Given the description of an element on the screen output the (x, y) to click on. 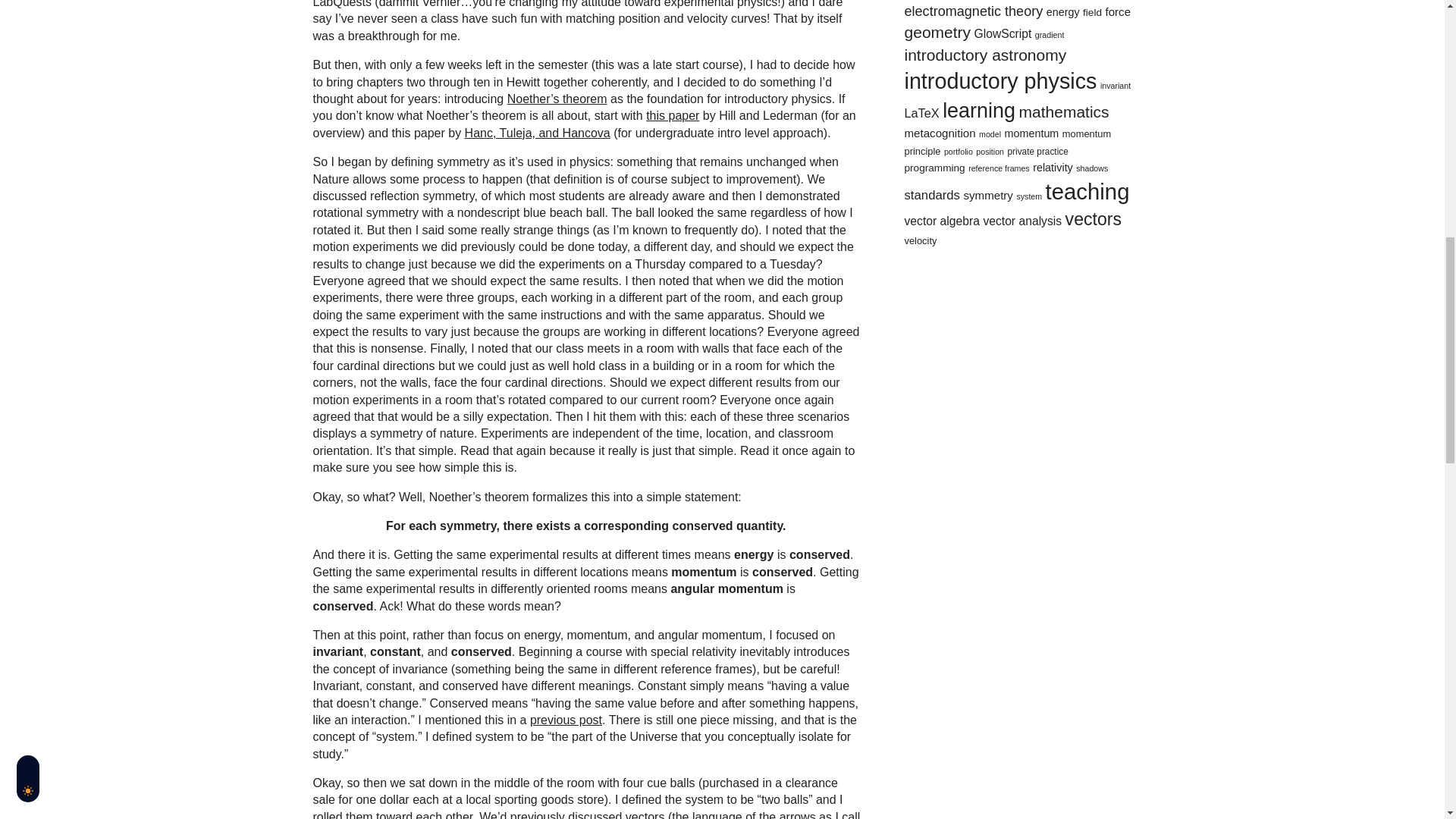
Hanc, Tuleja, and Hancova (537, 132)
previous post (565, 719)
Conceptual Understanding in Introductory Phyiscs II (565, 719)
Hanc, Tuleja, and Hancova (537, 132)
Hill and Lederman (672, 115)
Noether's Theorem (556, 98)
this paper (672, 115)
